Given the description of an element on the screen output the (x, y) to click on. 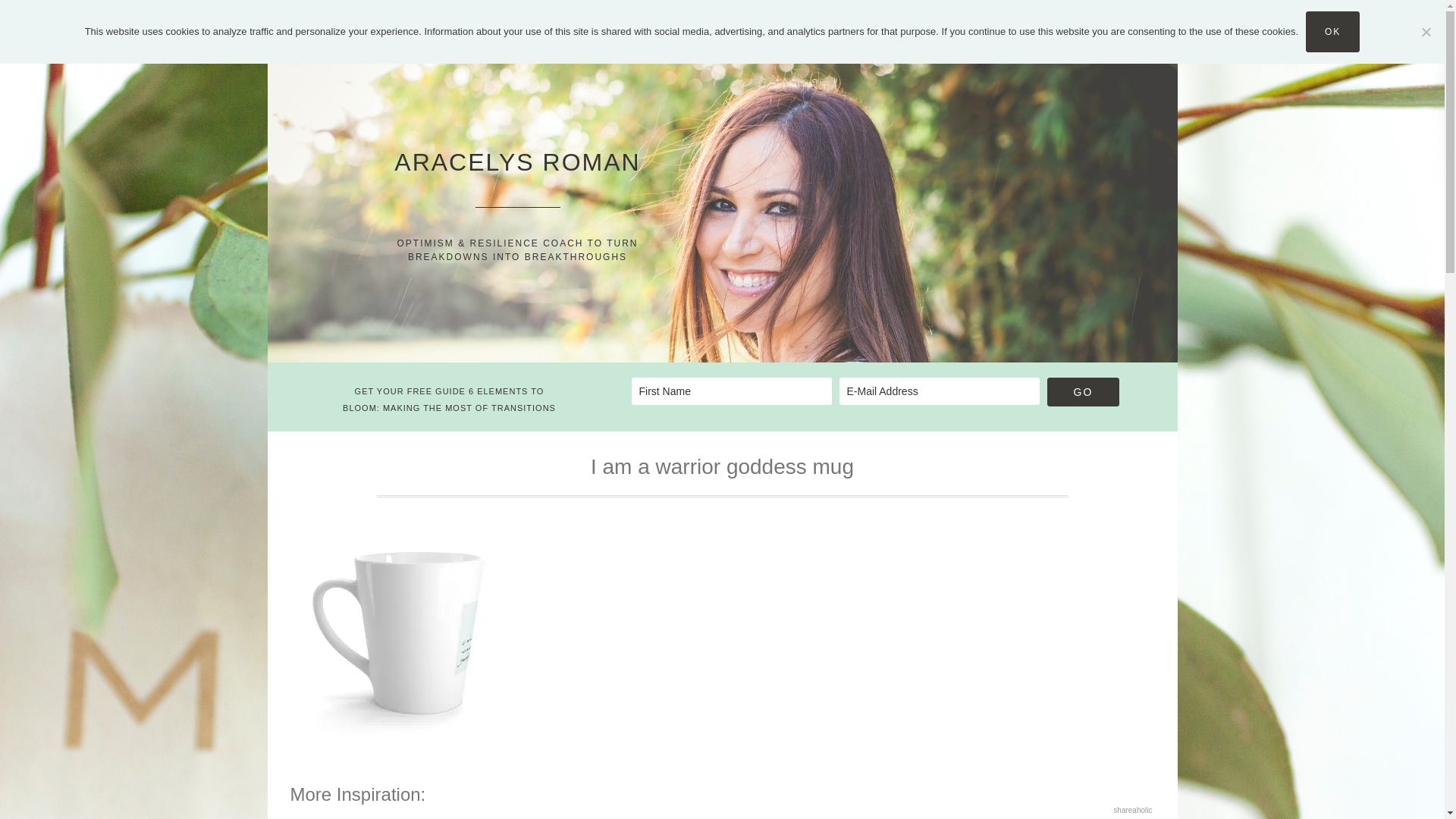
HOME (429, 22)
No (1425, 31)
shareaholic (1132, 809)
SHOP (934, 22)
Website Tools by Shareaholic (1132, 809)
KIND WORDS (831, 22)
OK (1332, 31)
Go (1082, 391)
ABOUT (512, 22)
CONTACT (1014, 22)
FAQ (733, 22)
ARACELYS ROMAN (517, 162)
WORK WITH ME (627, 22)
Go (1082, 391)
